Given the description of an element on the screen output the (x, y) to click on. 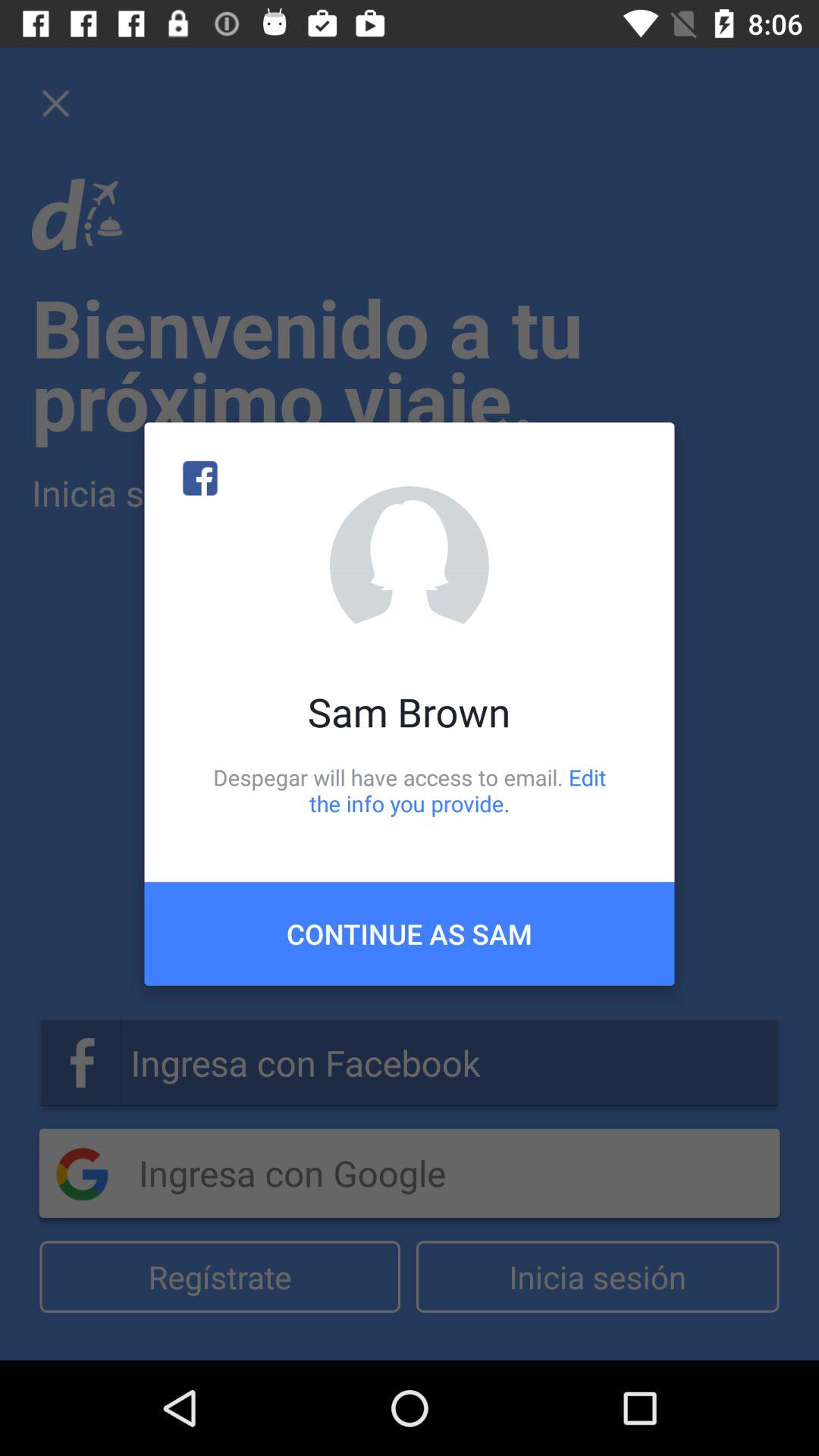
turn on item below the sam brown (409, 790)
